Given the description of an element on the screen output the (x, y) to click on. 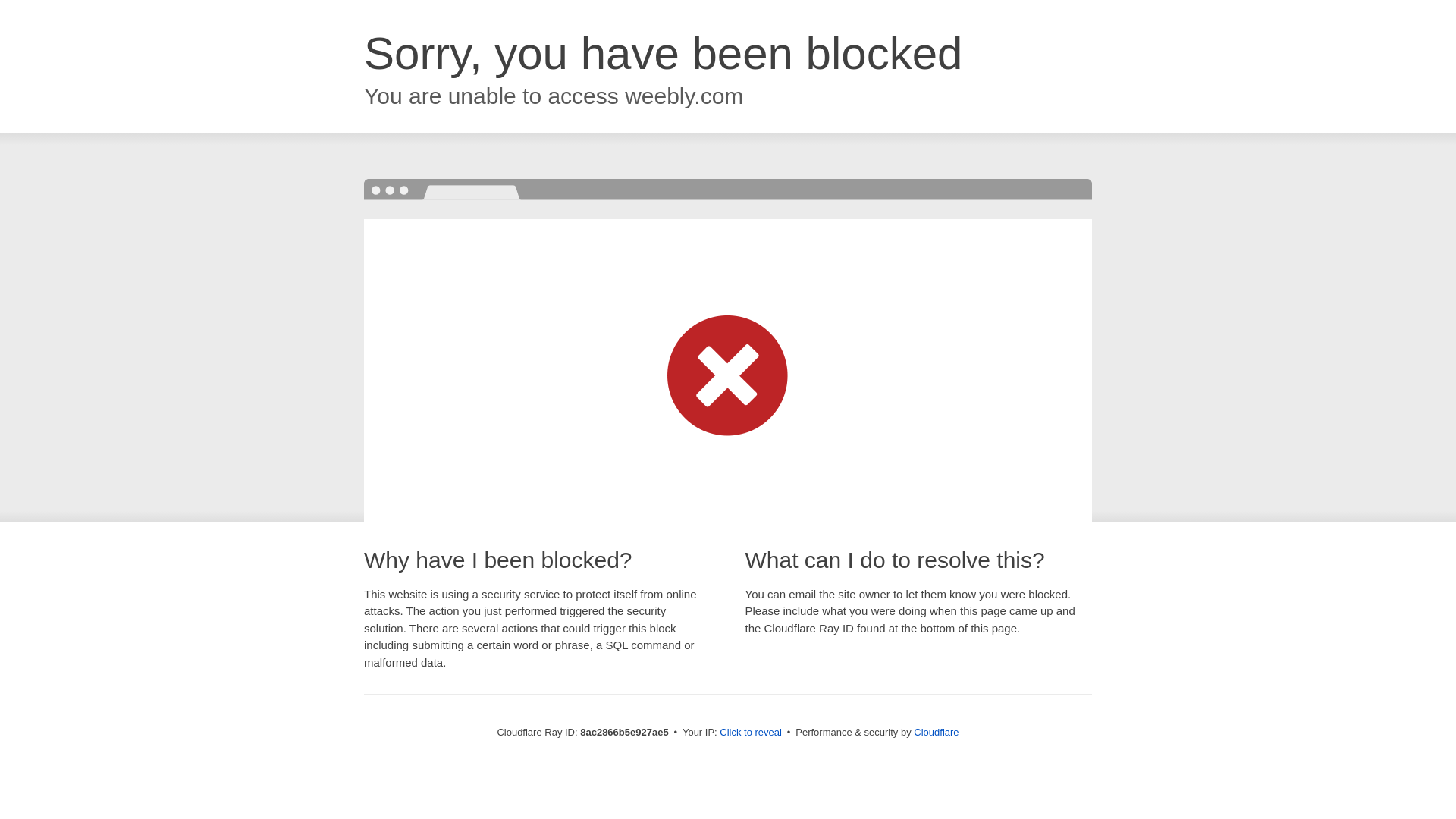
Click to reveal (750, 732)
Cloudflare (936, 731)
